Given the description of an element on the screen output the (x, y) to click on. 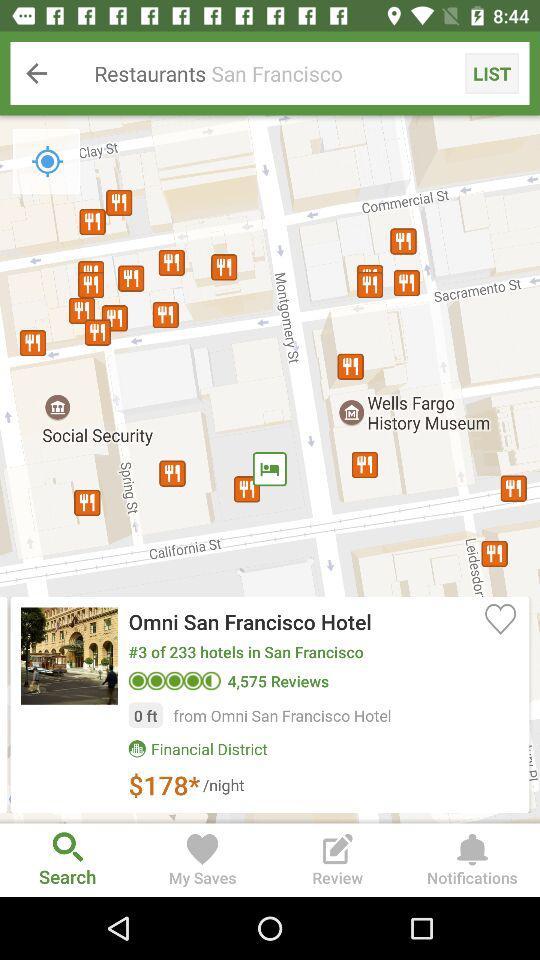
open icon below restaurants san francisco icon (47, 161)
